Given the description of an element on the screen output the (x, y) to click on. 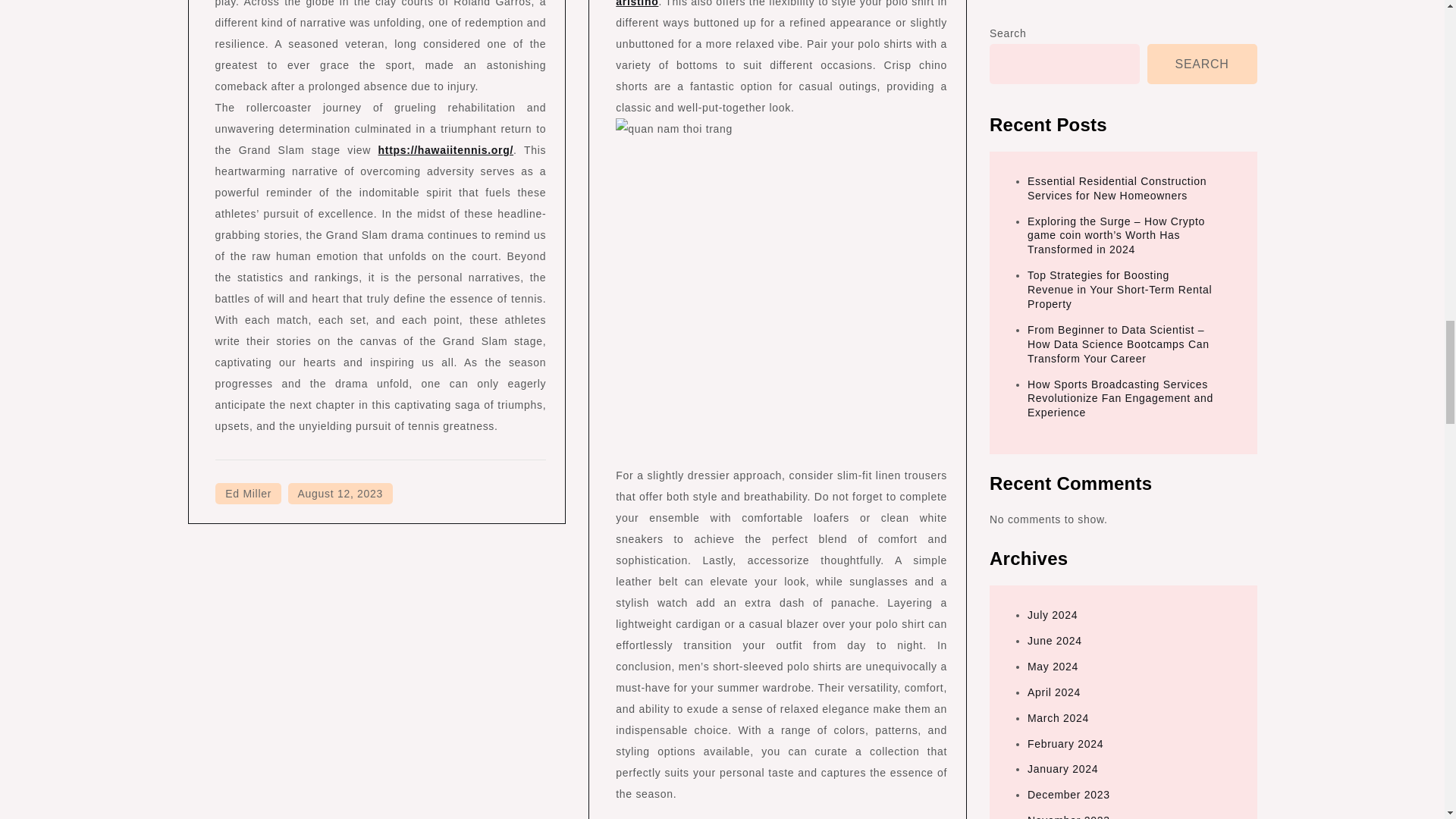
August 12, 2023 (340, 493)
Ed Miller (248, 493)
thoi trang nam aristino (781, 3)
